Given the description of an element on the screen output the (x, y) to click on. 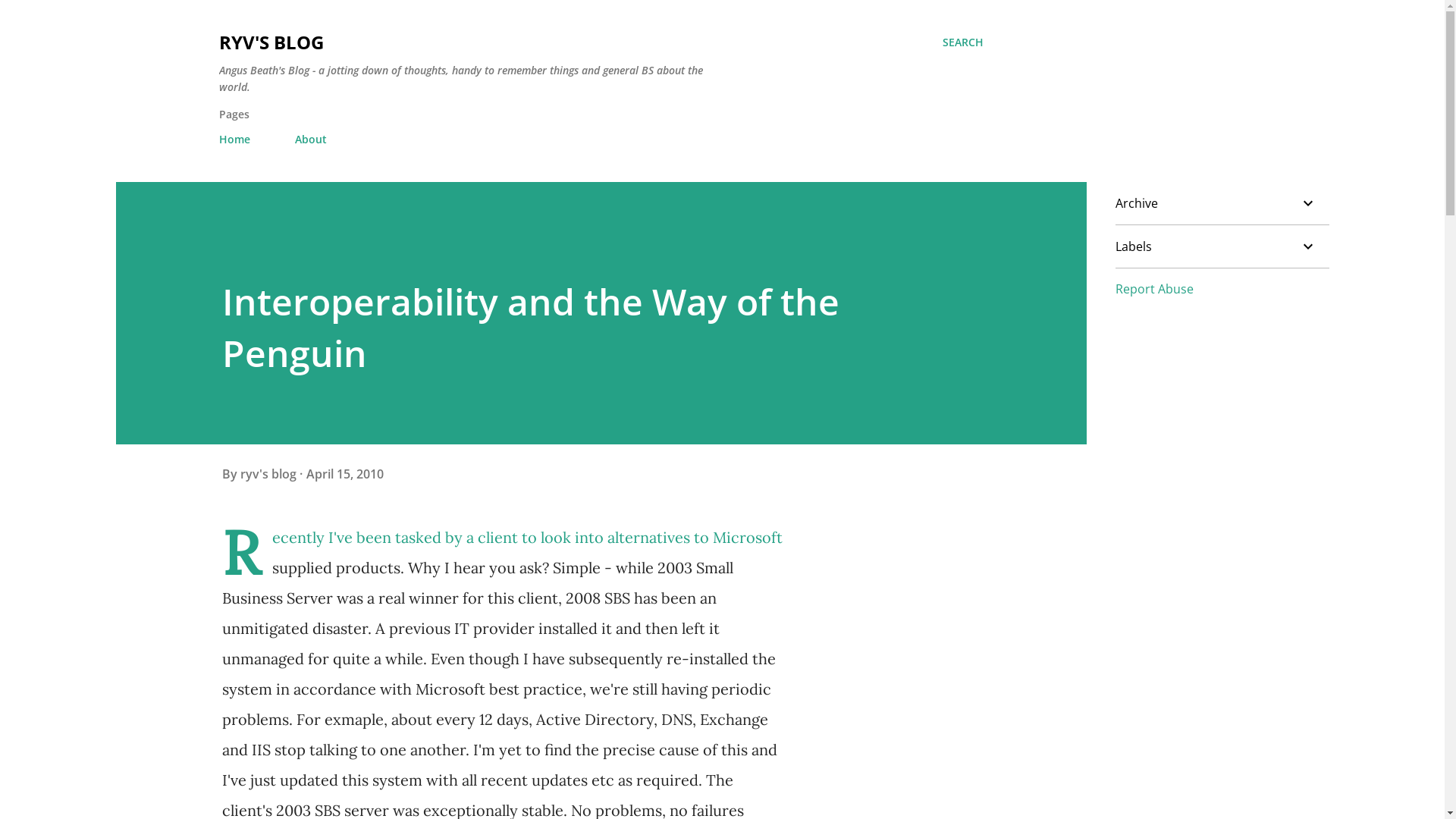
April 15, 2010 Element type: text (344, 472)
SEARCH Element type: text (961, 42)
About Element type: text (310, 138)
RYV'S BLOG Element type: text (270, 41)
ryv's blog Element type: text (268, 472)
Report Abuse Element type: text (1153, 288)
Home Element type: text (238, 138)
